Given the description of an element on the screen output the (x, y) to click on. 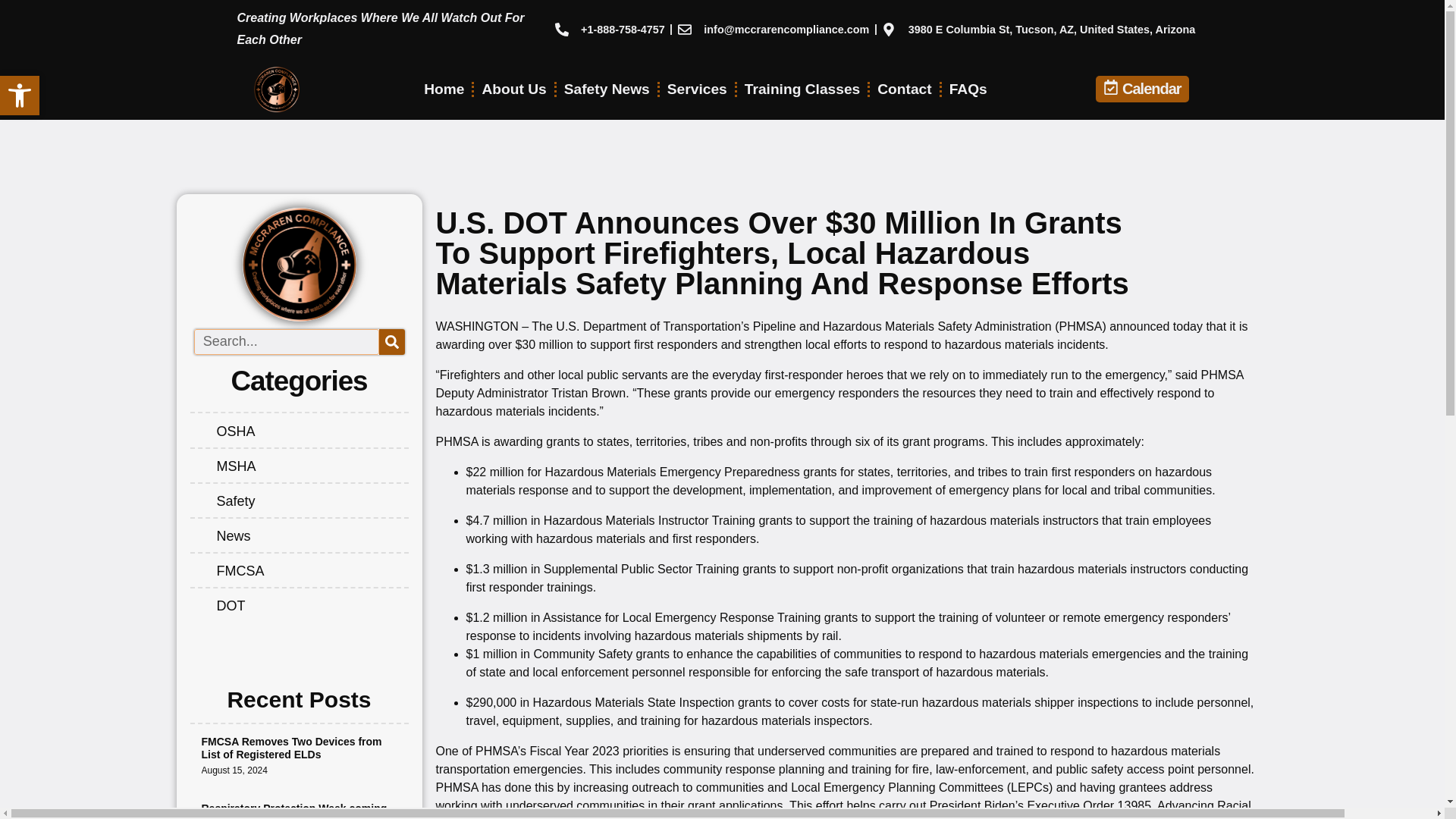
Home (443, 88)
Services (697, 88)
Contact (904, 88)
Training Classes (801, 88)
Safety News (607, 88)
3980 E Columbia St, Tucson, AZ, United States, Arizona (1038, 29)
Accessibility Tools (19, 95)
FAQs (19, 95)
About Us (968, 88)
